Given the description of an element on the screen output the (x, y) to click on. 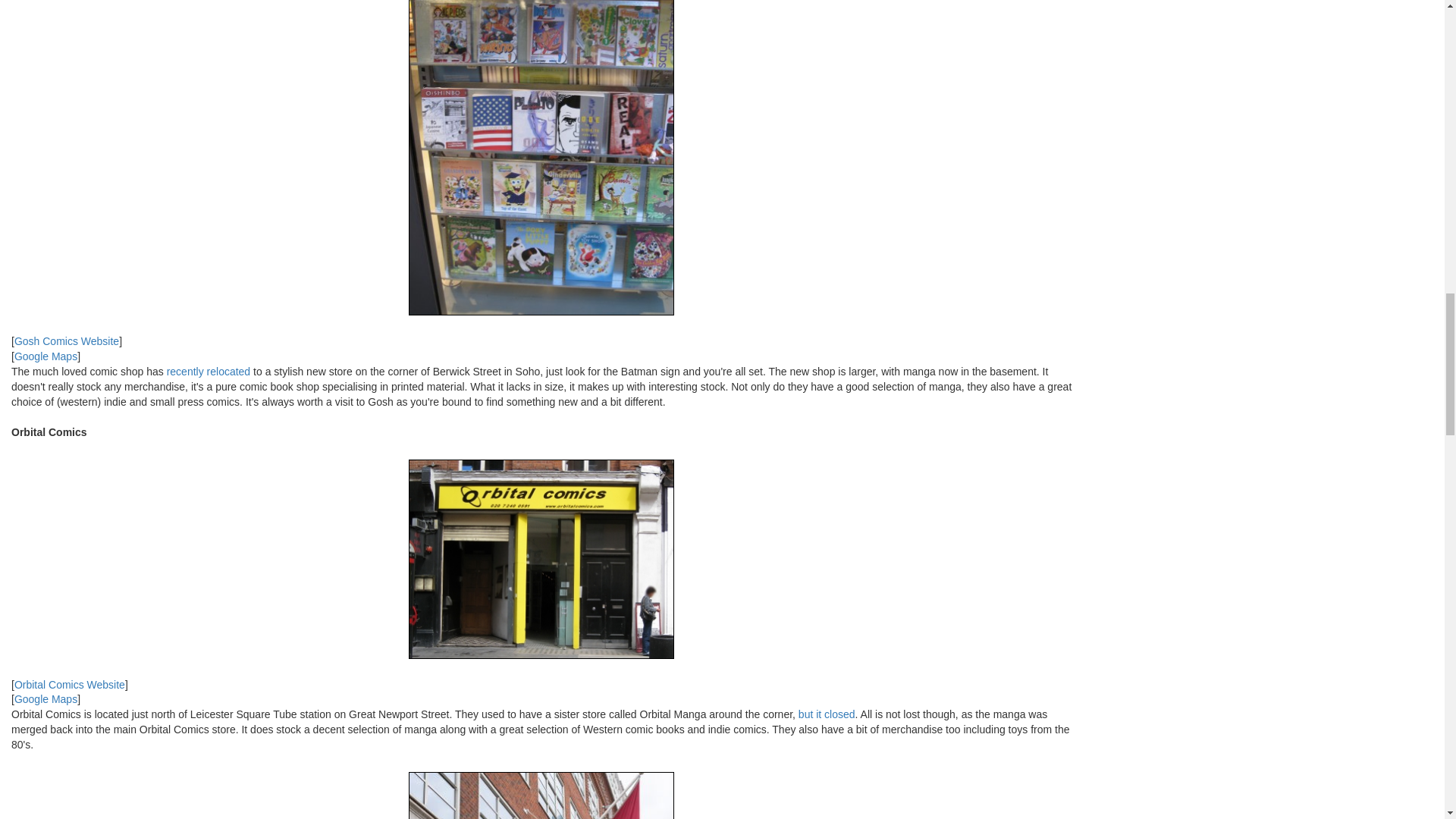
Gosh Comics Website (66, 340)
Google Maps (45, 356)
recently relocated (208, 371)
